Given the description of an element on the screen output the (x, y) to click on. 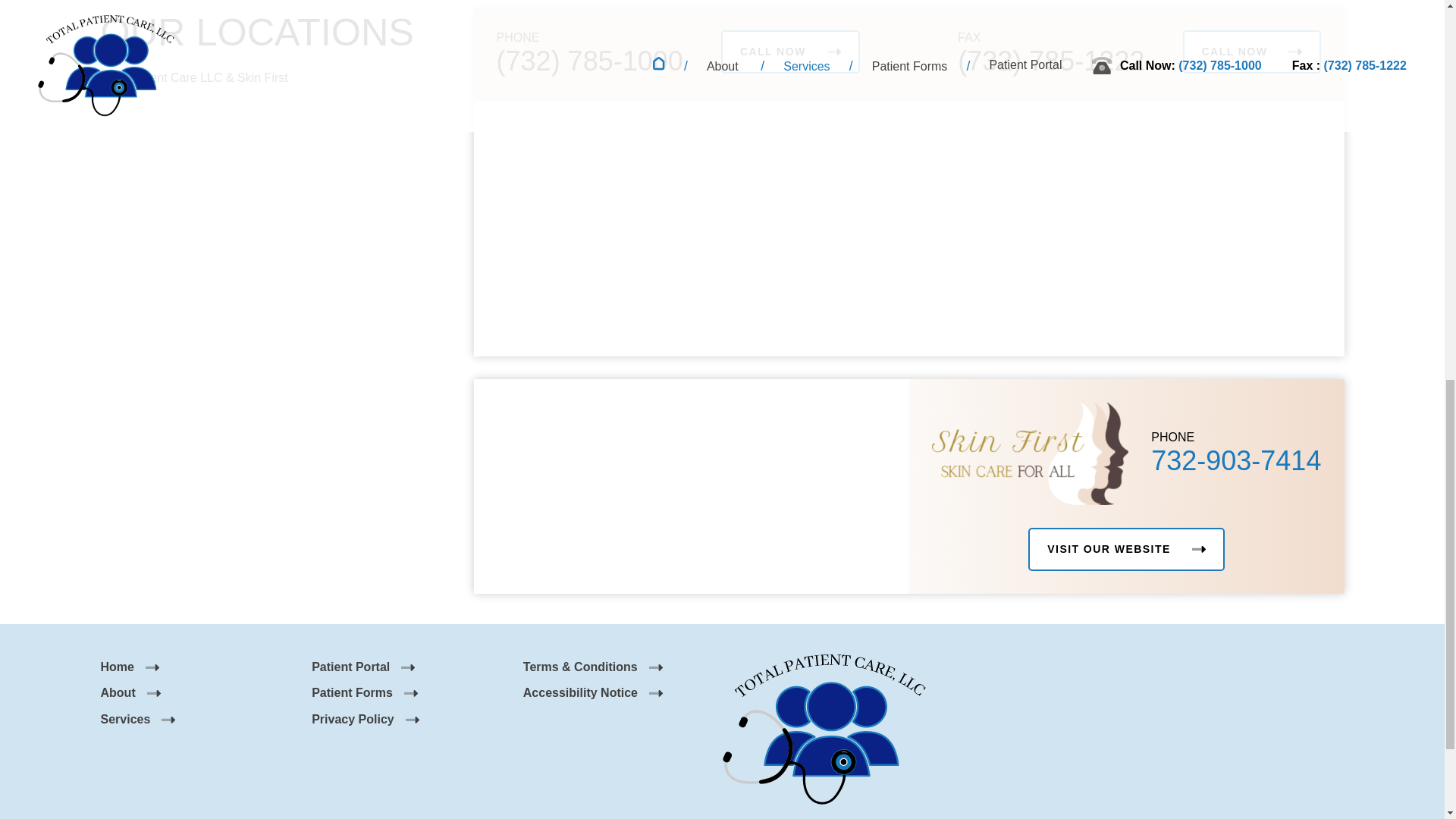
About (130, 692)
Services (137, 718)
Privacy Policy (365, 718)
CALL NOW (790, 51)
CALL NOW (1252, 51)
Patient Portal (362, 666)
Home (129, 666)
Patient Forms (364, 692)
732-903-7414 (1235, 460)
VISIT OUR WEBSITE (1125, 548)
